Given the description of an element on the screen output the (x, y) to click on. 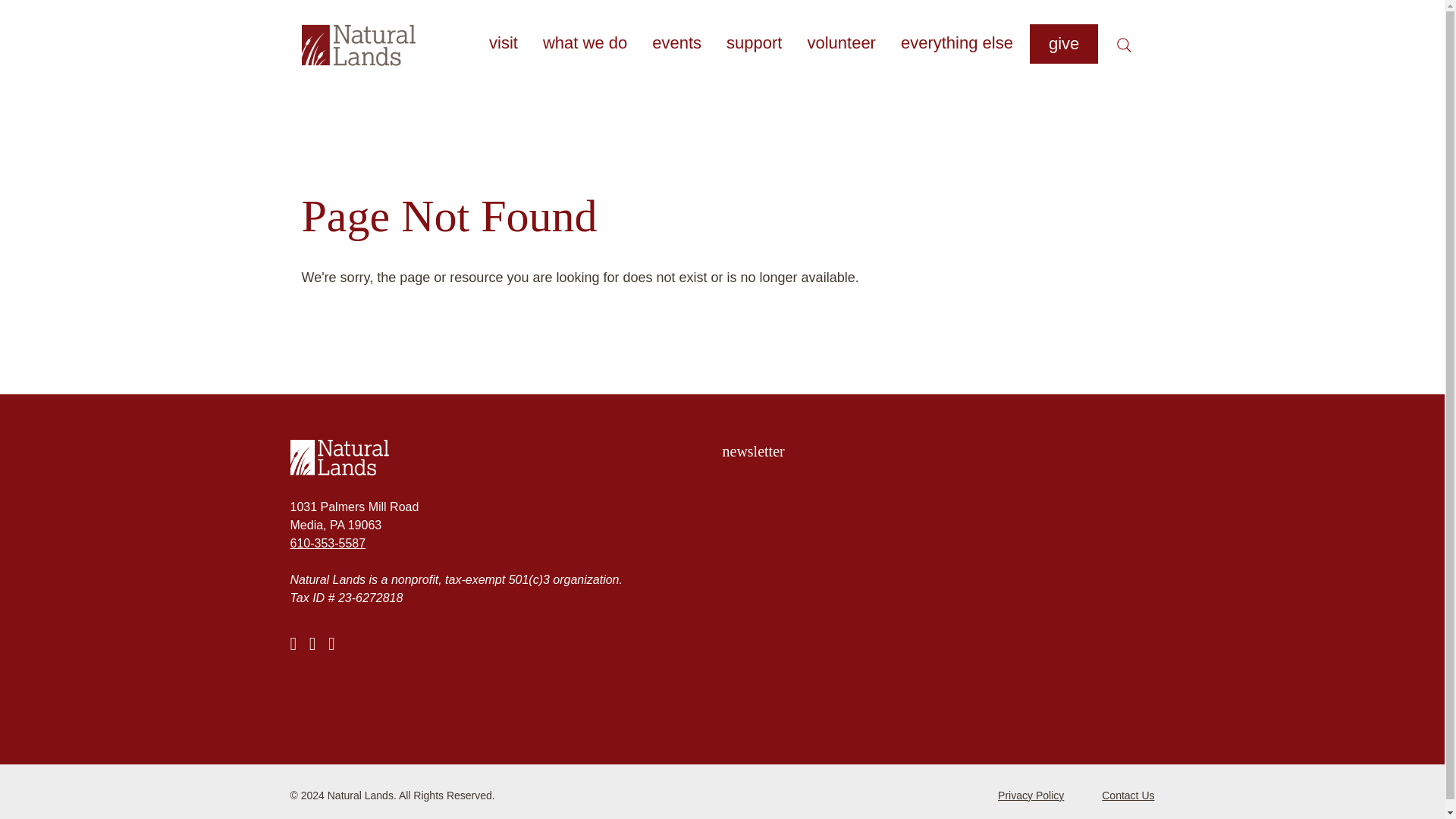
visit (502, 42)
volunteer (840, 42)
everything else (957, 42)
Contact Us (1128, 795)
610-353-5587 (327, 543)
events (676, 42)
Natural Lands (505, 457)
support (753, 42)
give (1063, 43)
what we do (584, 42)
